Given the description of an element on the screen output the (x, y) to click on. 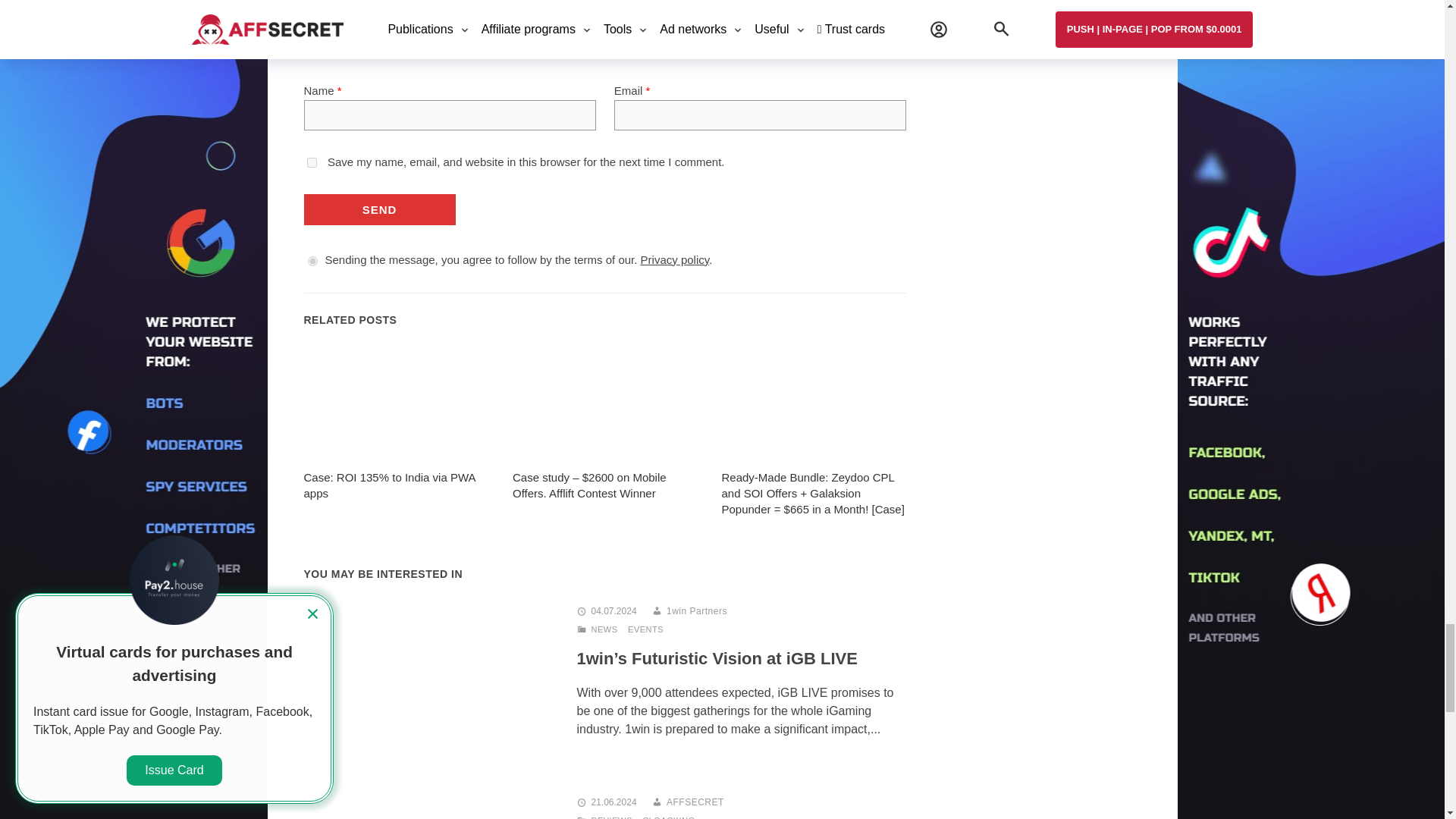
yes (310, 162)
on (312, 261)
Send (378, 209)
